Given the description of an element on the screen output the (x, y) to click on. 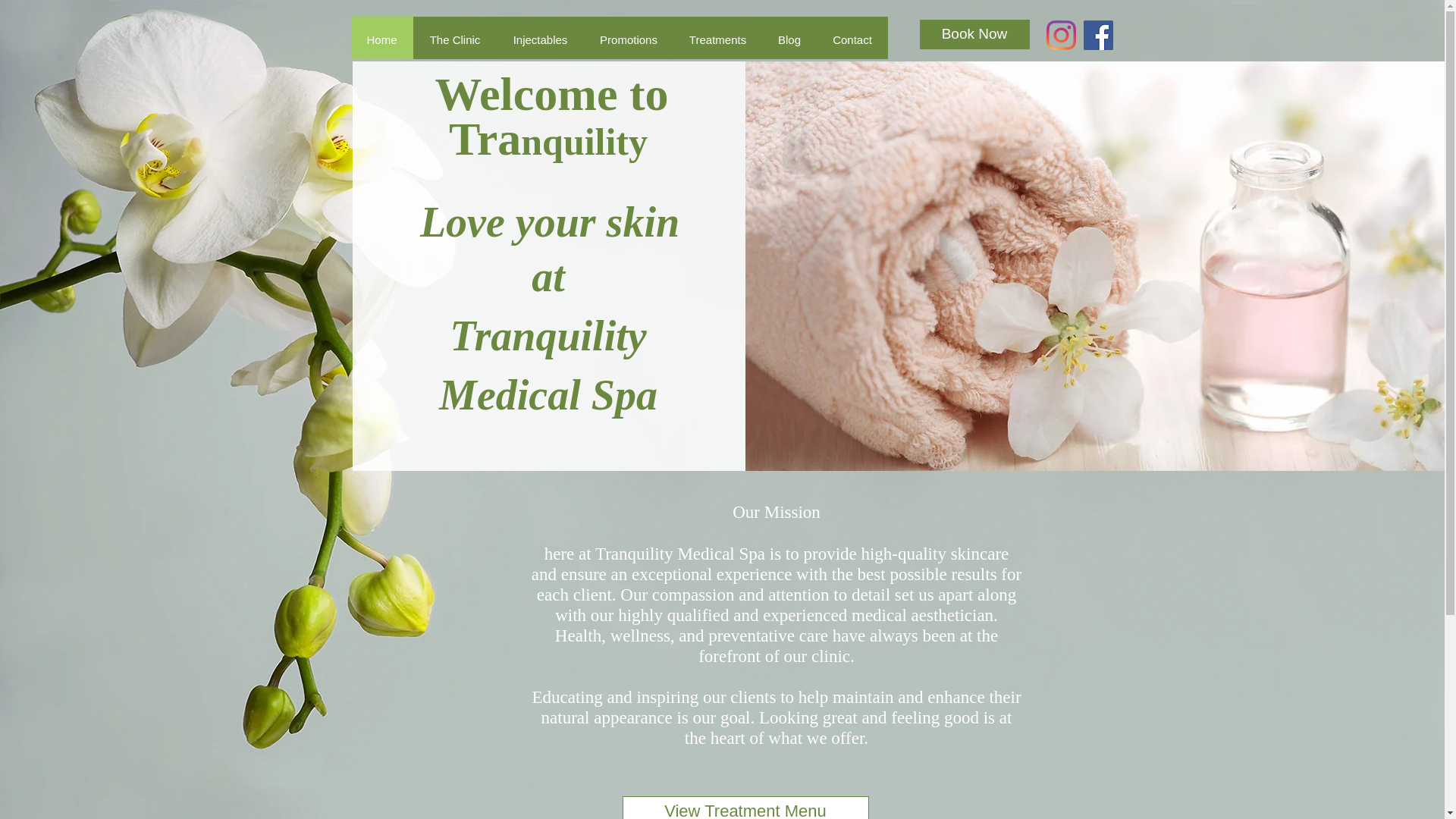
Promotions (627, 39)
Home (381, 36)
Promotions (627, 36)
The Clinic (454, 35)
Contact (850, 39)
Injectables (539, 35)
Contact (850, 35)
Injectables (539, 39)
Home (381, 35)
